Given the description of an element on the screen output the (x, y) to click on. 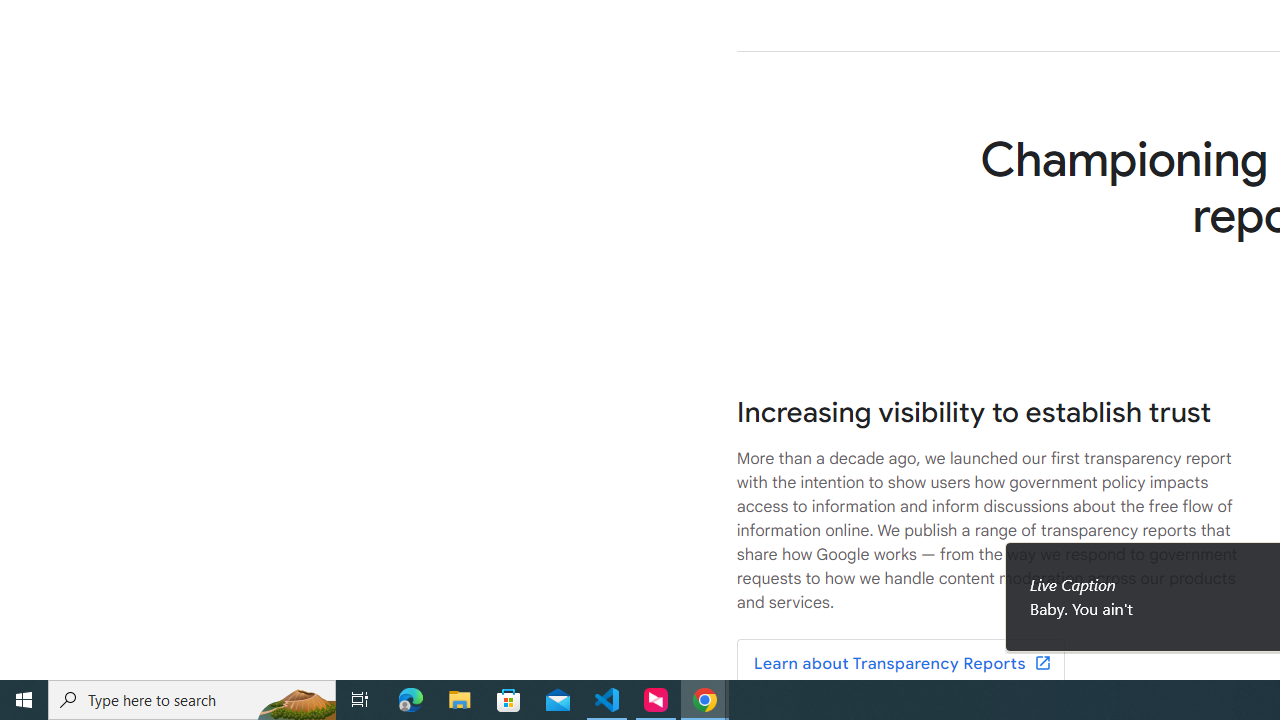
Go to Transparency Report About web page (900, 664)
